Given the description of an element on the screen output the (x, y) to click on. 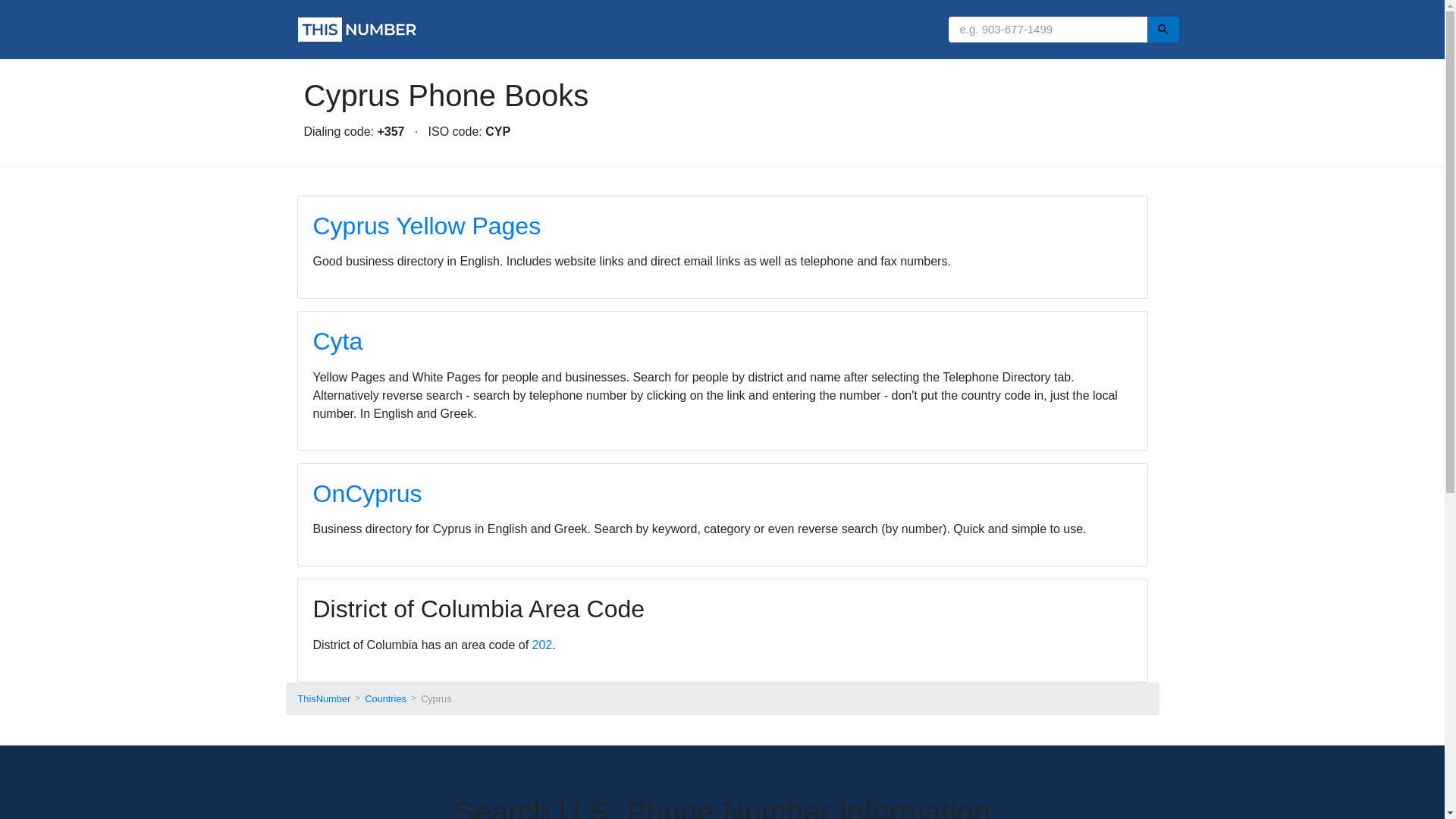
Cyprus Yellow Pages (426, 225)
202 (542, 644)
OnCyprus (367, 492)
Countries (385, 698)
Cyta (337, 340)
ThisNumber (323, 698)
